Given the description of an element on the screen output the (x, y) to click on. 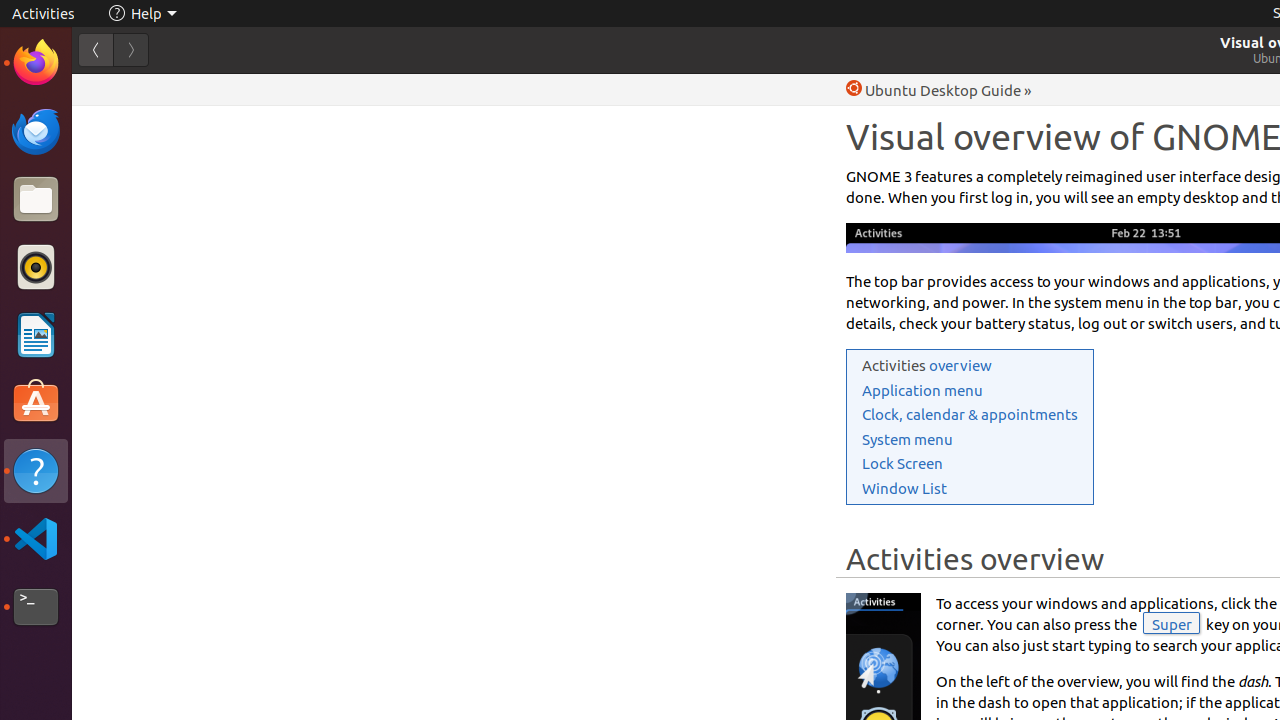
Activities Element type: label (43, 13)
Window List Element type: link (904, 488)
System menu Element type: link (907, 439)
